Given the description of an element on the screen output the (x, y) to click on. 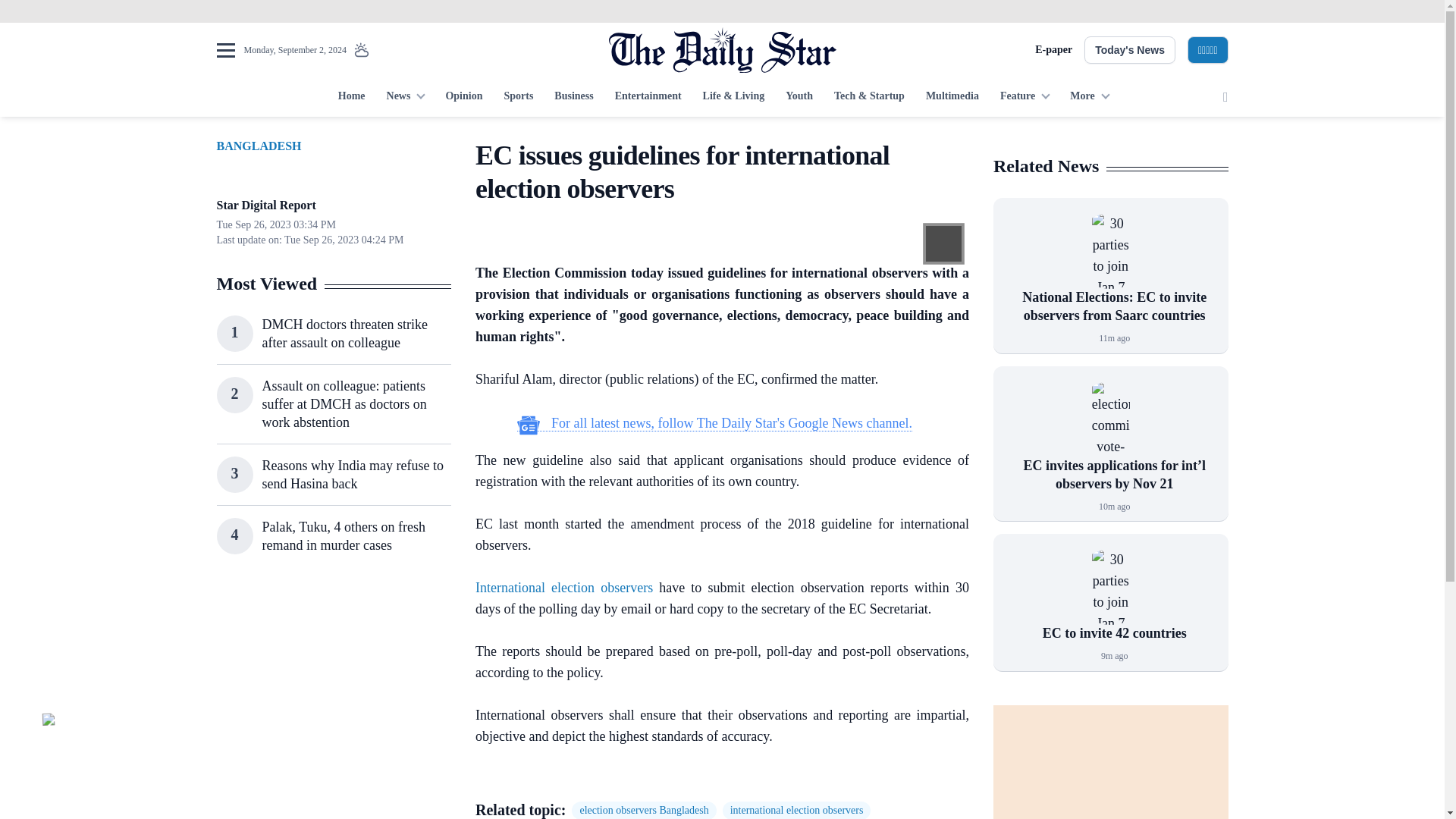
Home (351, 96)
News (405, 96)
Today's News (1129, 49)
30 parties to join Jan 7 polls (1110, 250)
Feature (1024, 96)
Multimedia (952, 96)
Opinion (463, 96)
election-commission-vote-voting-EC-logo (1110, 419)
Business (573, 96)
